Given the description of an element on the screen output the (x, y) to click on. 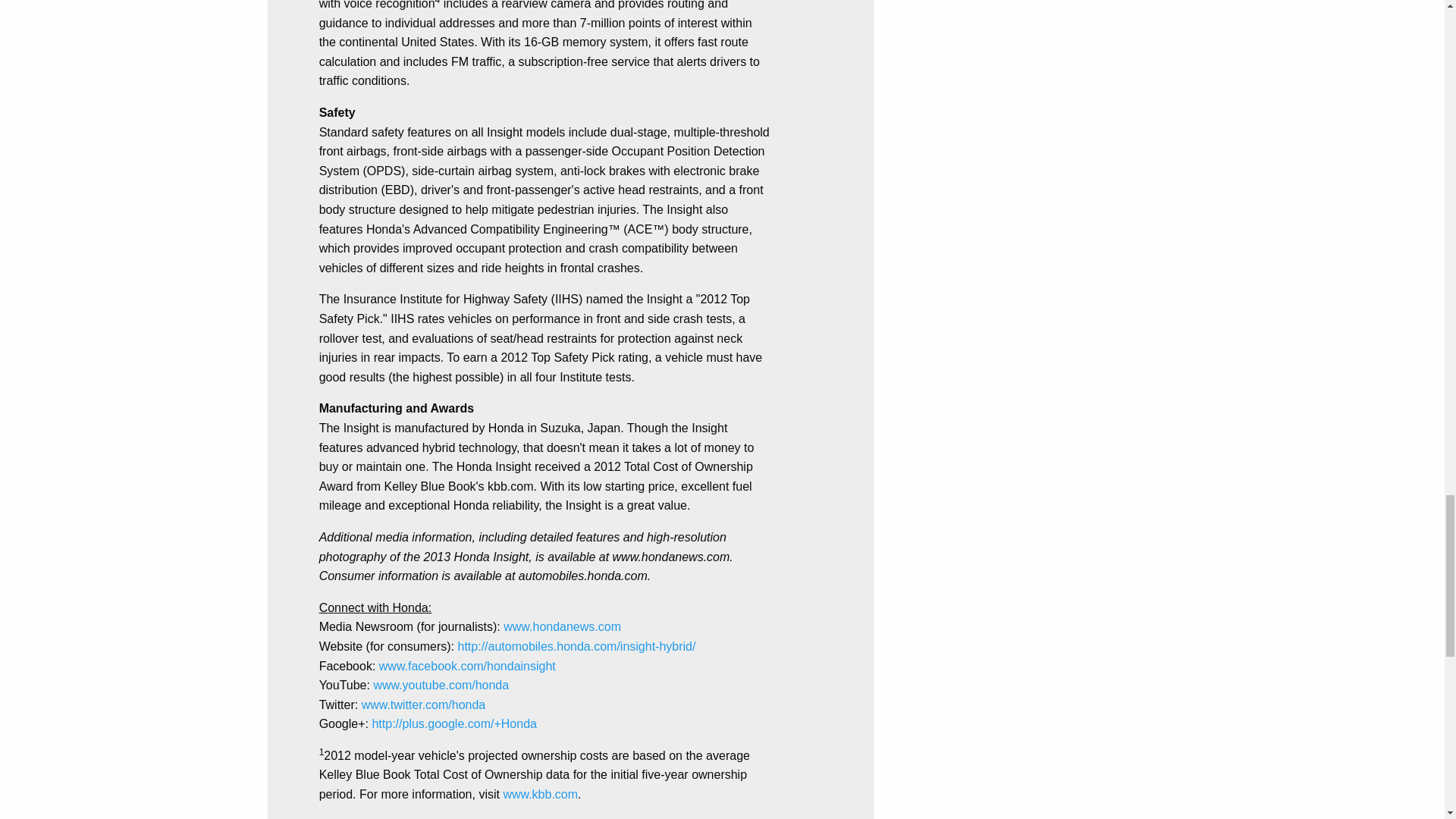
www.kbb.com (540, 793)
www.hondanews.com (562, 626)
